Given the description of an element on the screen output the (x, y) to click on. 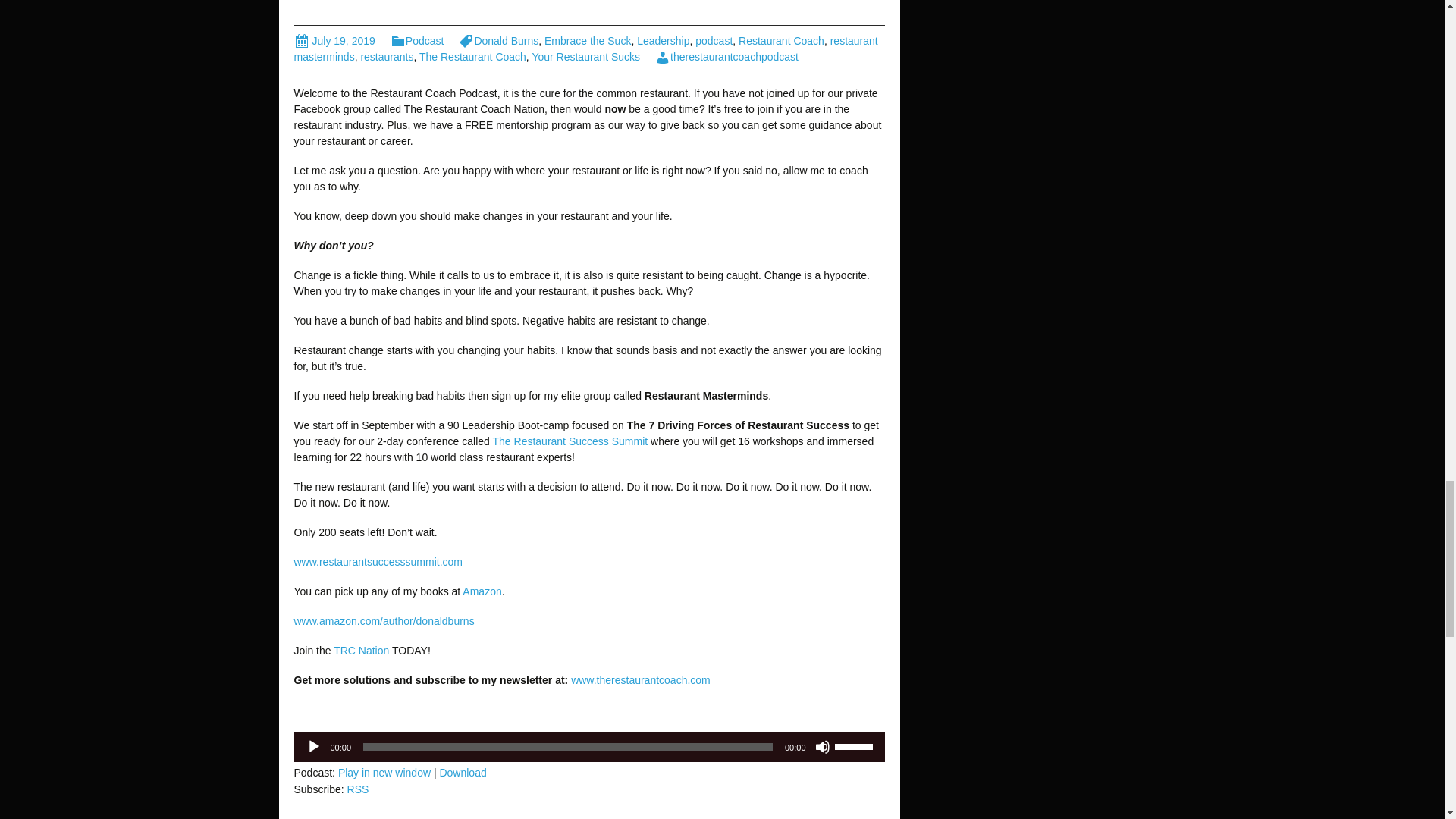
Play (313, 746)
View all posts by therestaurantcoachpodcast (726, 56)
